Given the description of an element on the screen output the (x, y) to click on. 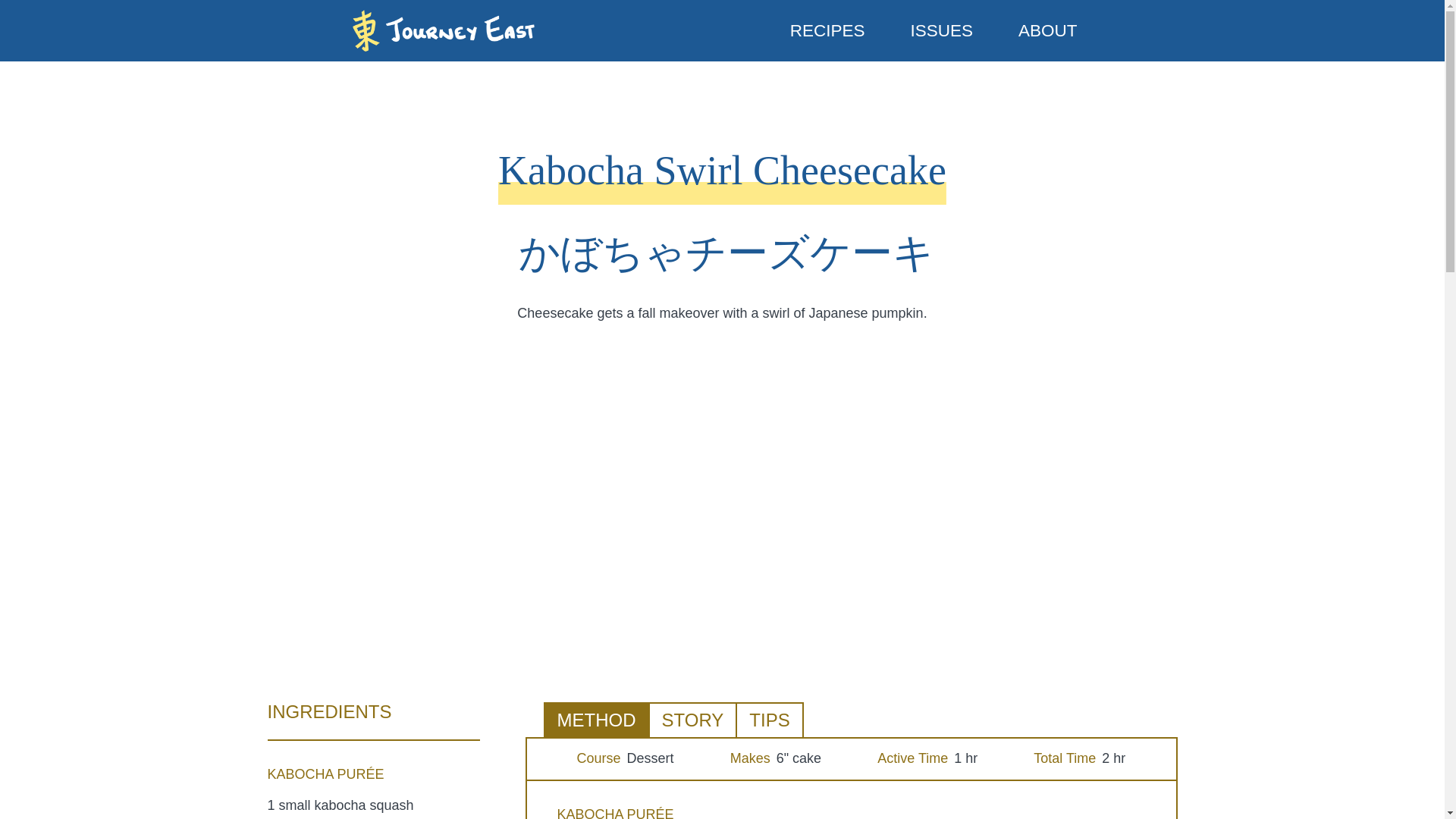
METHOD (595, 719)
ABOUT (1048, 30)
RECIPES (827, 30)
STORY (691, 719)
ISSUES (941, 30)
TIPS (769, 719)
